Given the description of an element on the screen output the (x, y) to click on. 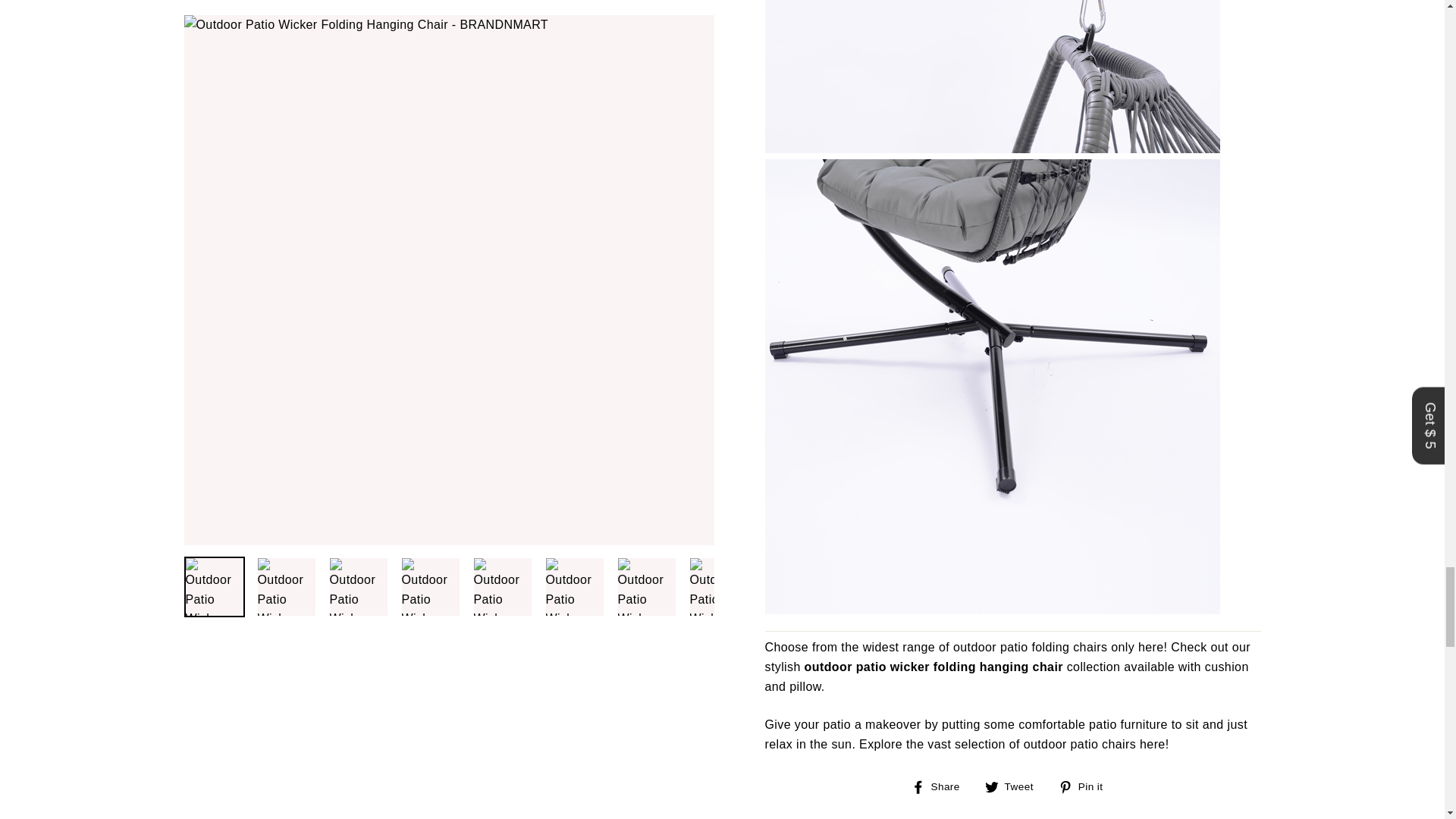
Share on Facebook (941, 786)
Tweet on Twitter (1015, 786)
Pin on Pinterest (1085, 786)
